Given the description of an element on the screen output the (x, y) to click on. 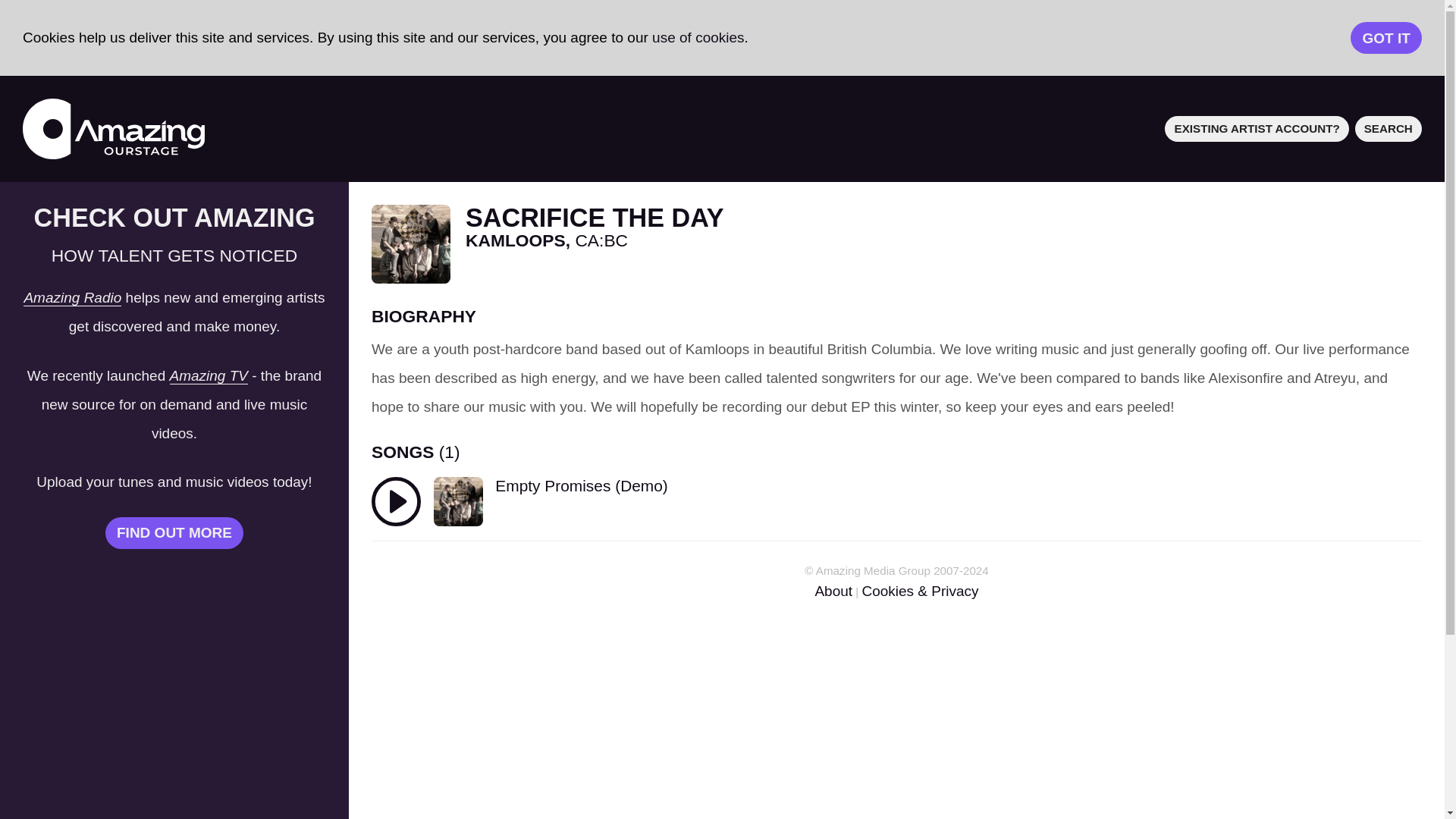
use of cookies (698, 37)
Amazing TV (208, 375)
FIND OUT MORE (173, 532)
About (832, 590)
EXISTING ARTIST ACCOUNT? (1256, 128)
Amazing Radio (71, 297)
SEARCH (1388, 128)
